Given the description of an element on the screen output the (x, y) to click on. 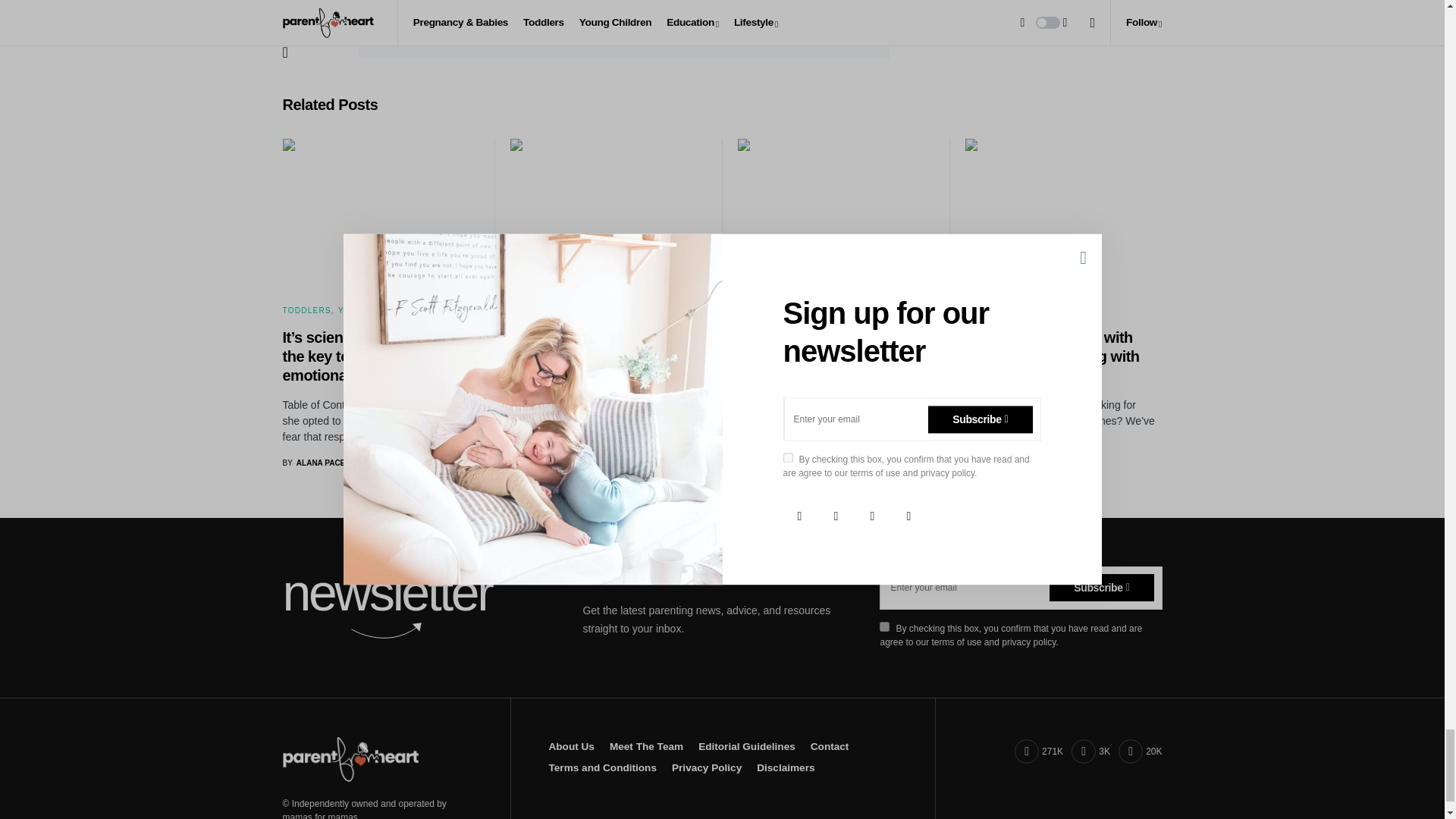
on (392, 19)
View all posts by Alana Pace (313, 462)
View all posts by Alana Pace (767, 462)
on (884, 626)
View all posts by Alana Pace (540, 475)
View all posts by Jewel Joven (997, 462)
